Given the description of an element on the screen output the (x, y) to click on. 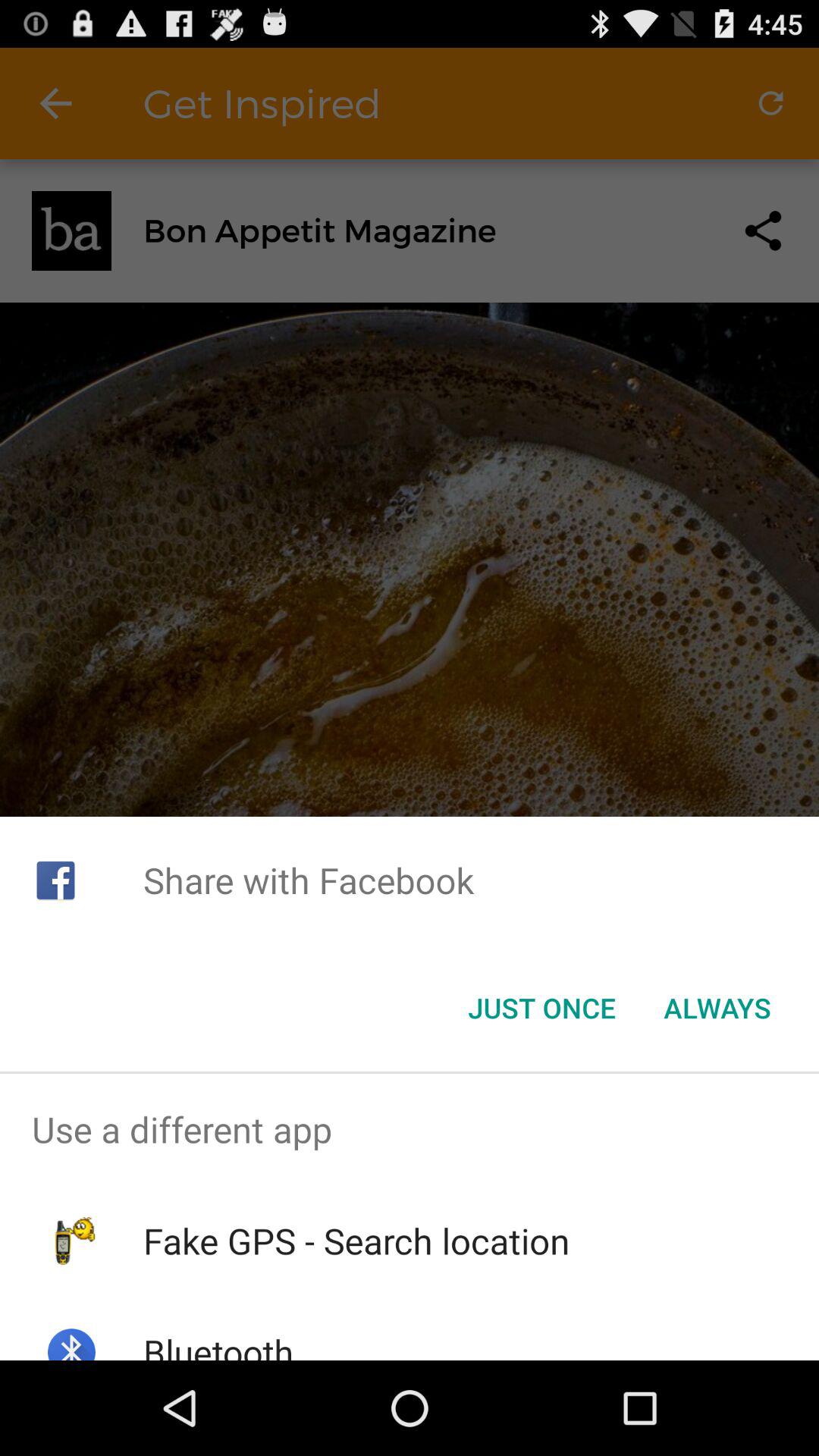
swipe until bluetooth icon (218, 1344)
